Given the description of an element on the screen output the (x, y) to click on. 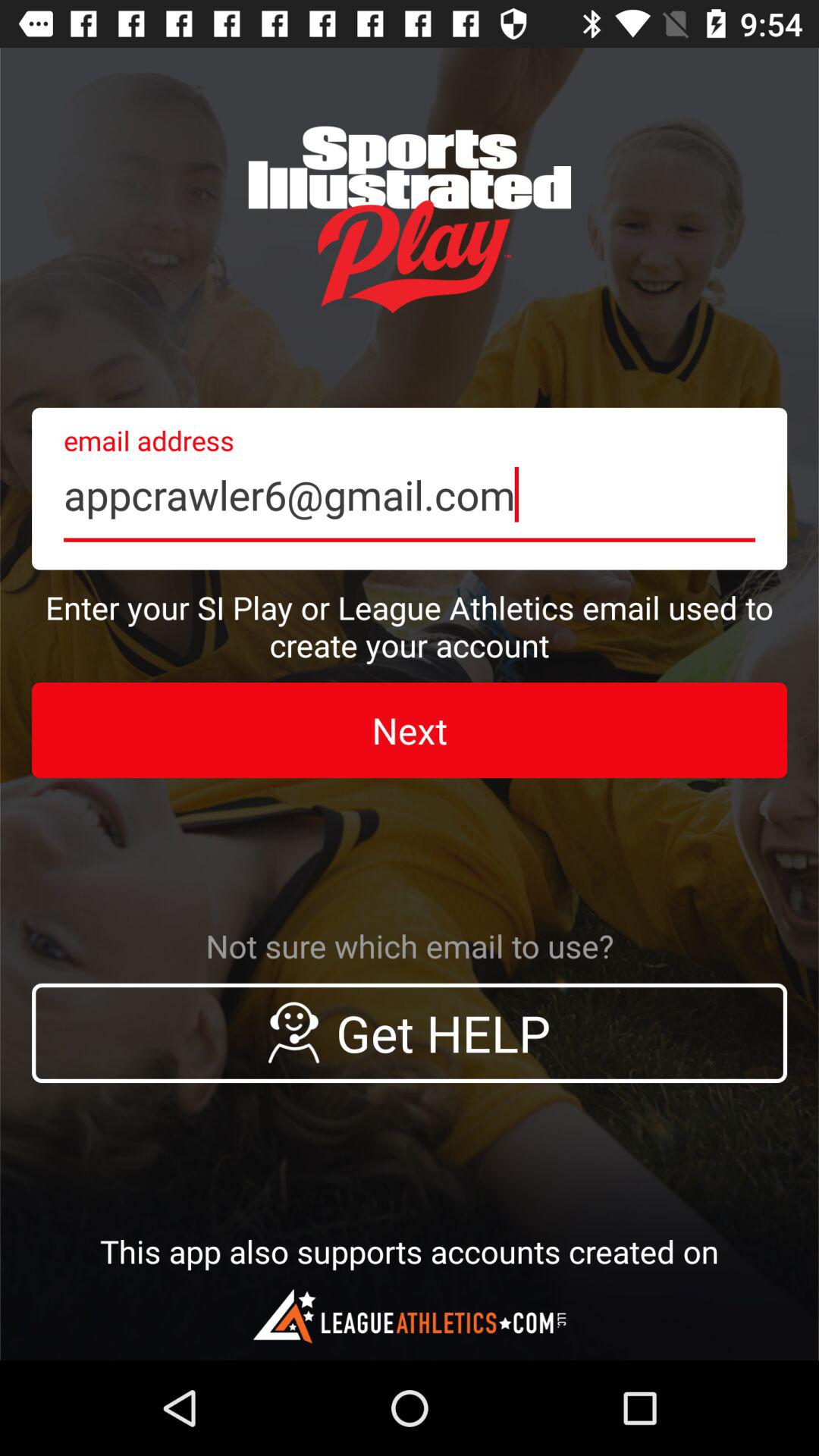
turn on the icon below enter your si (409, 730)
